Given the description of an element on the screen output the (x, y) to click on. 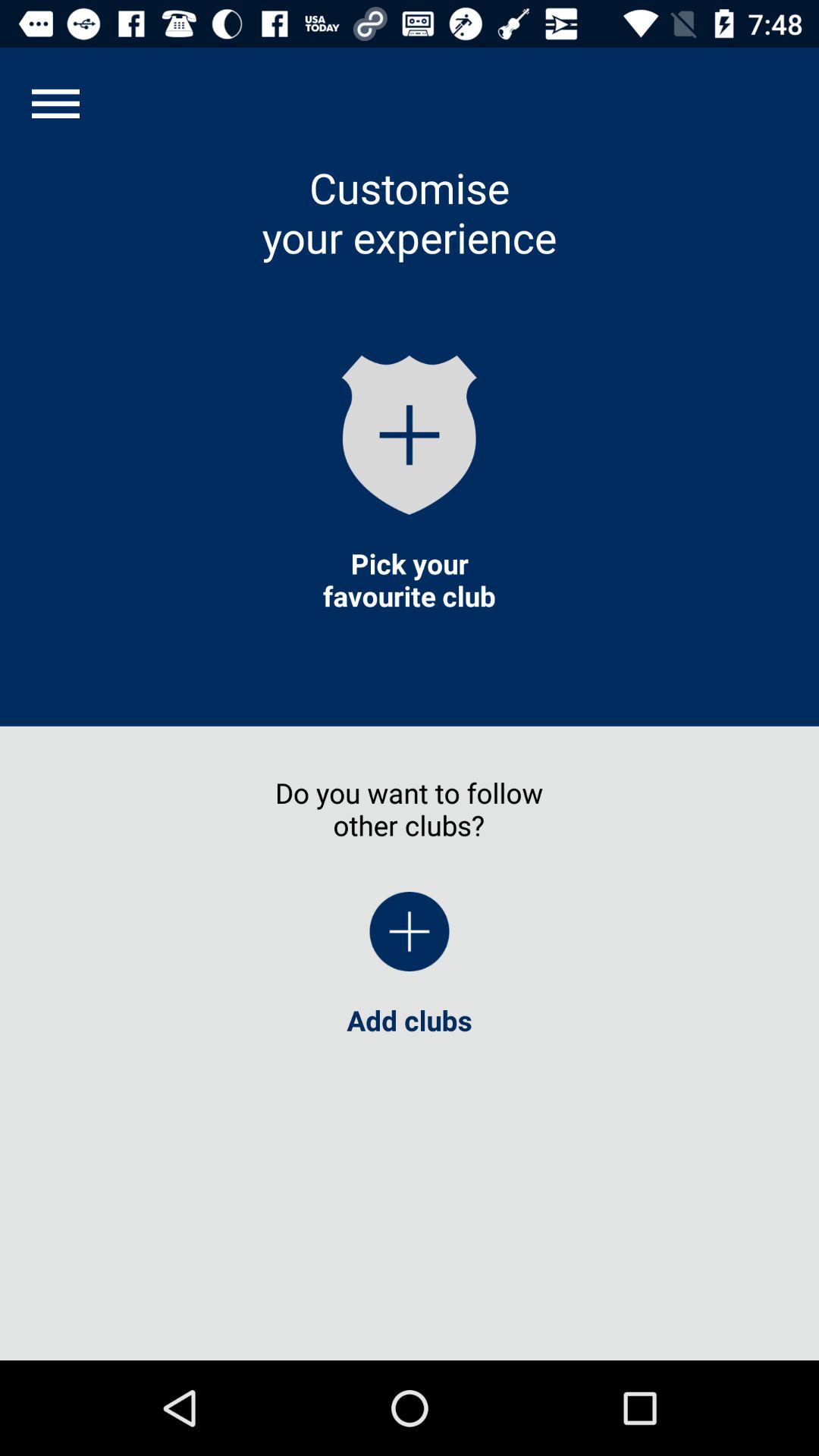
tap item above the do you want (409, 579)
